Given the description of an element on the screen output the (x, y) to click on. 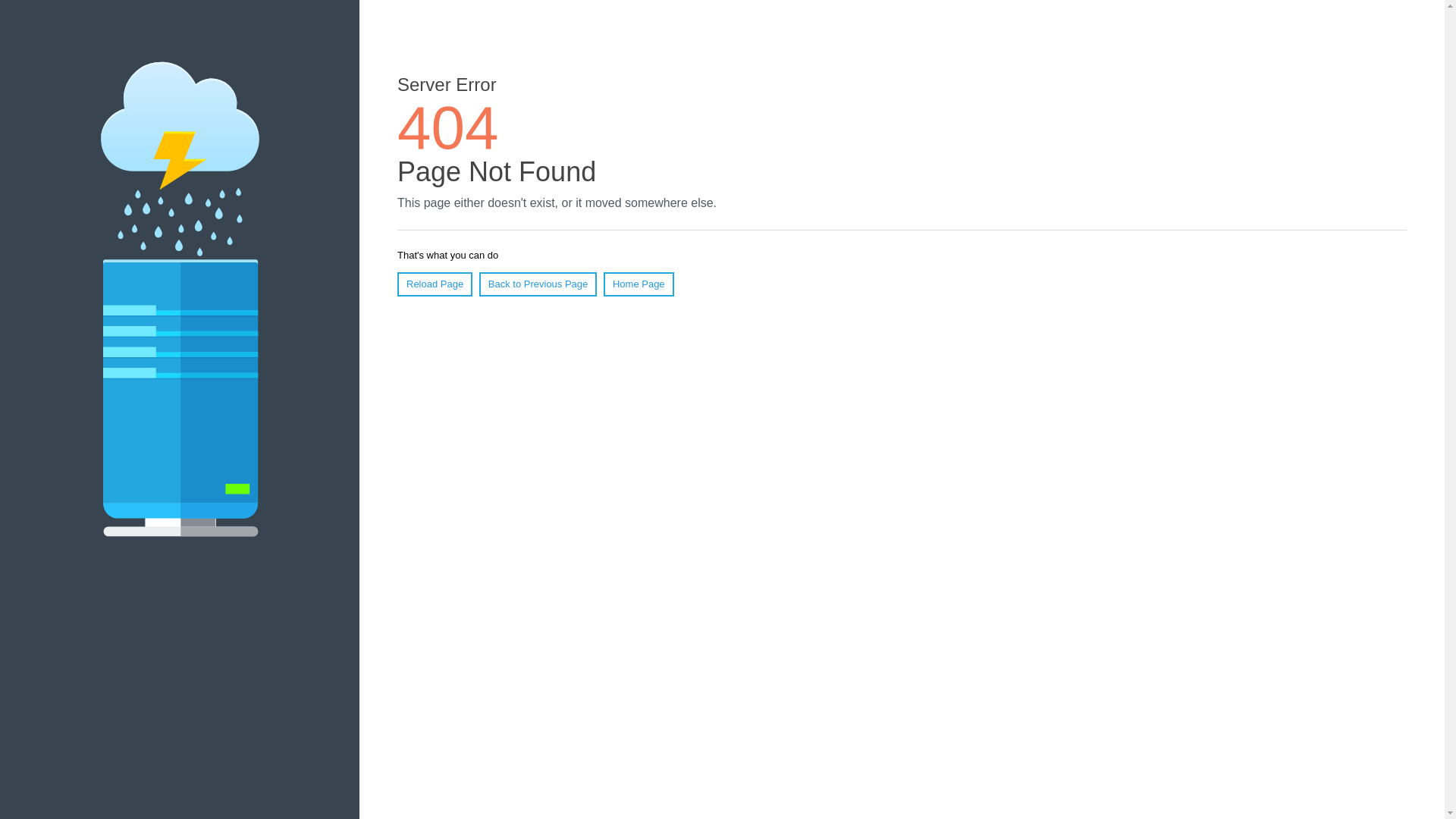
Back to Previous Page Element type: text (538, 284)
Reload Page Element type: text (434, 284)
Home Page Element type: text (638, 284)
